Given the description of an element on the screen output the (x, y) to click on. 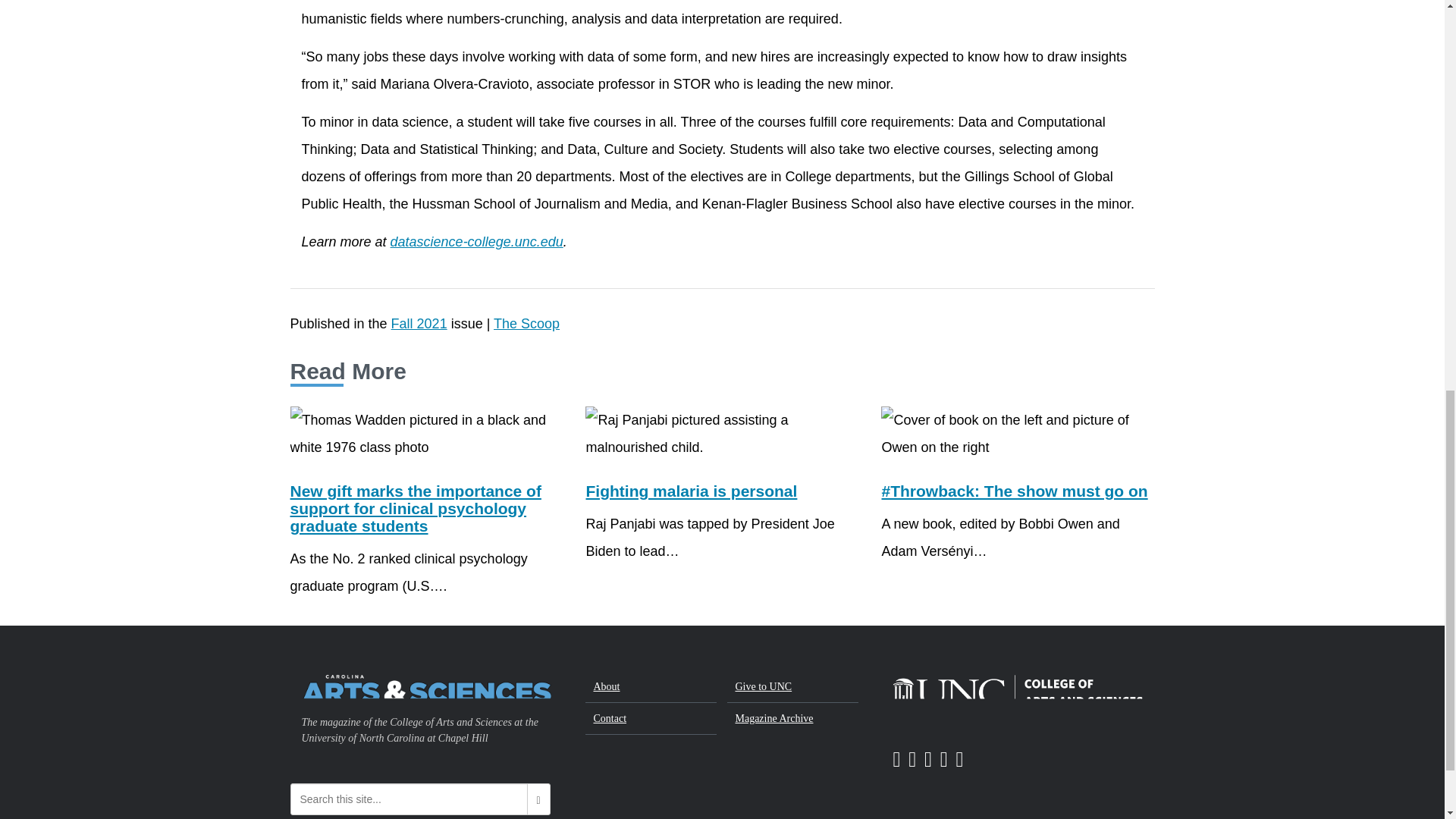
UNC College of Arts and Sciences (1017, 690)
Magazine Archive (792, 717)
About (650, 686)
Fighting malaria is personal (690, 490)
datascience-college.unc.edu (476, 241)
Give to UNC (792, 686)
Fall 2021 (418, 323)
The Scoop (526, 323)
Contact (650, 718)
